Given the description of an element on the screen output the (x, y) to click on. 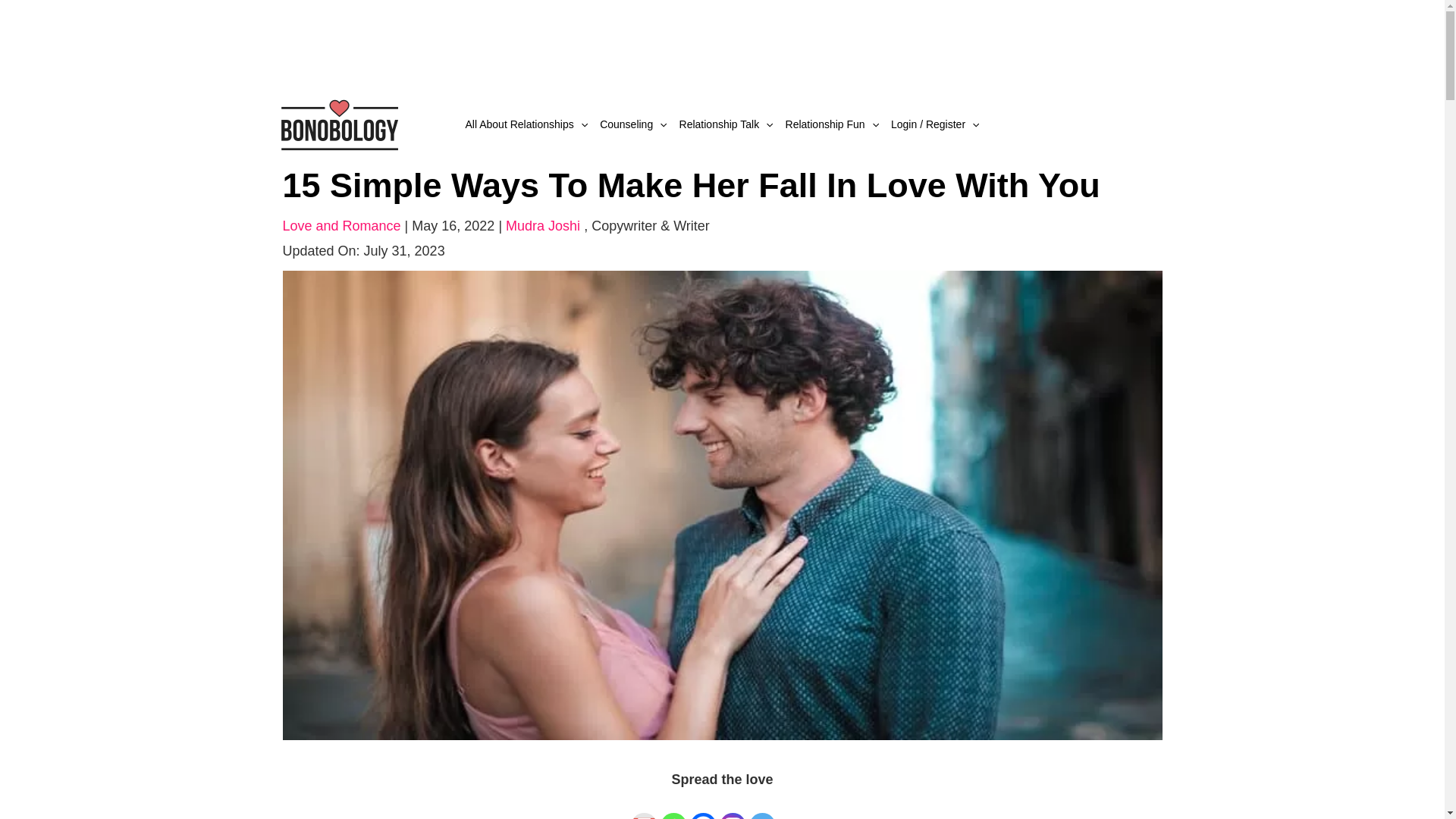
Instagram (732, 806)
Google Gmail (644, 806)
how to make her fall in love with you (721, 503)
Facebook (703, 806)
Editor Info (650, 225)
Whatsapp (674, 806)
All About Relationships (527, 124)
Twitter (762, 806)
cropped-cropped-Bonobology-2.png (339, 123)
